Given the description of an element on the screen output the (x, y) to click on. 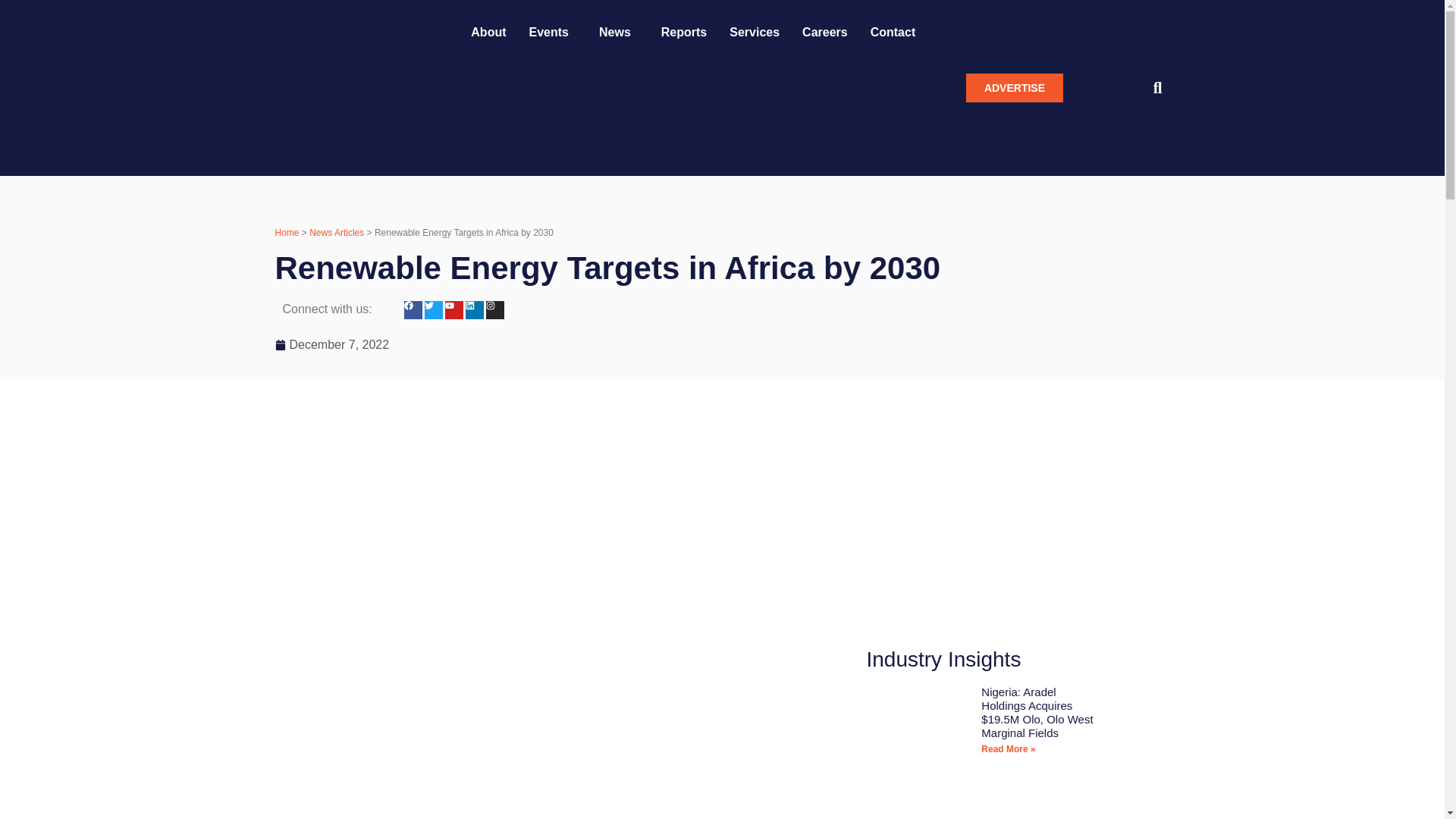
Services (753, 32)
ADVERTISE (1014, 87)
Reports (683, 32)
Careers (824, 32)
December 7, 2022 (331, 344)
Contact (893, 32)
Home (286, 232)
News Articles (336, 232)
About (488, 32)
News (618, 32)
